Given the description of an element on the screen output the (x, y) to click on. 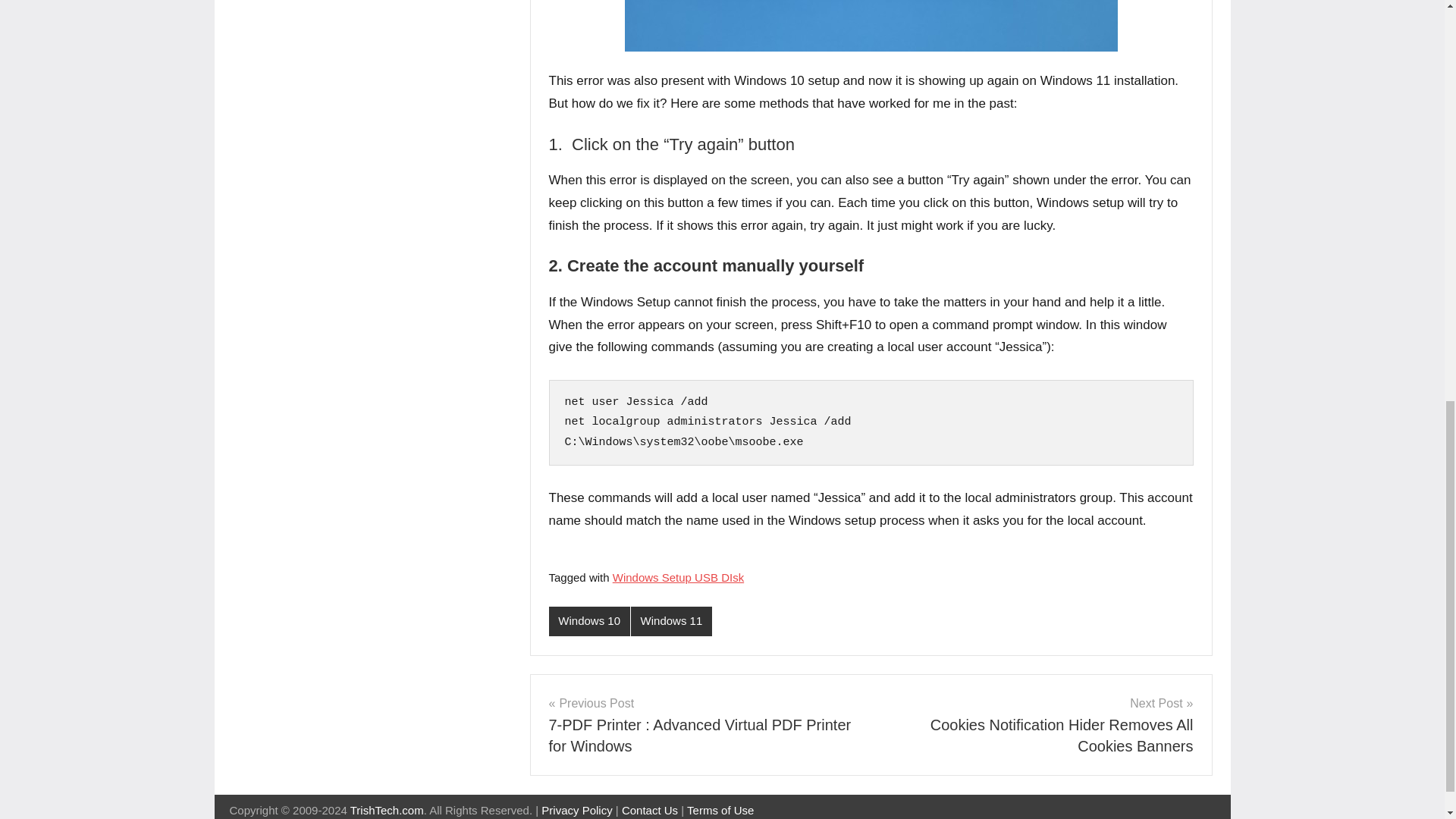
Terms of Use (720, 809)
Windows Setup USB DIsk (678, 576)
Contact Us (649, 809)
Windows 11 (670, 621)
Privacy Policy (576, 809)
Windows 10 (589, 621)
TrishTech.com (386, 809)
